Given the description of an element on the screen output the (x, y) to click on. 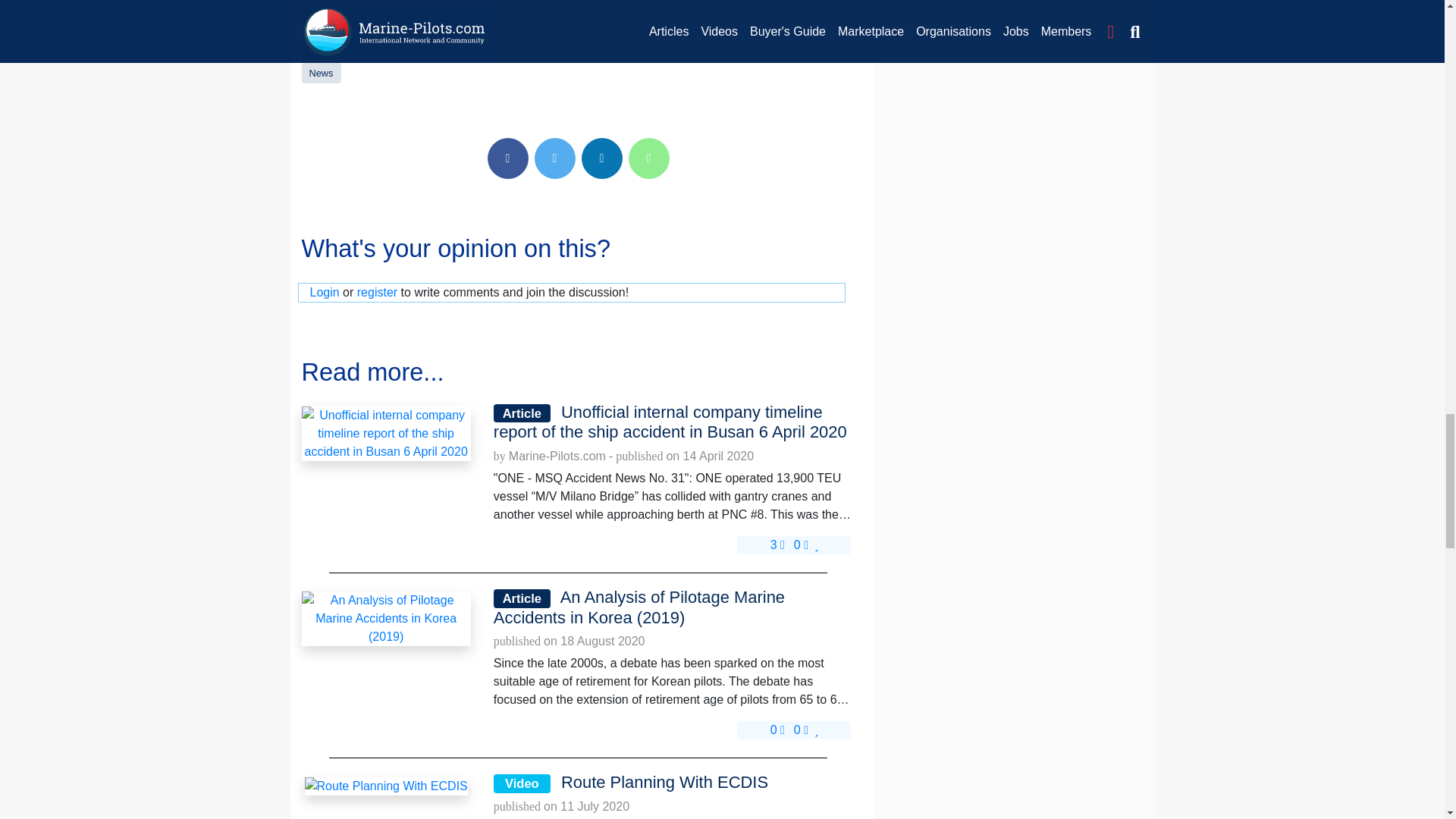
Login (323, 291)
register (376, 291)
News (320, 72)
3 (777, 544)
News (320, 72)
Route Planning With ECDIS (385, 786)
